Given the description of an element on the screen output the (x, y) to click on. 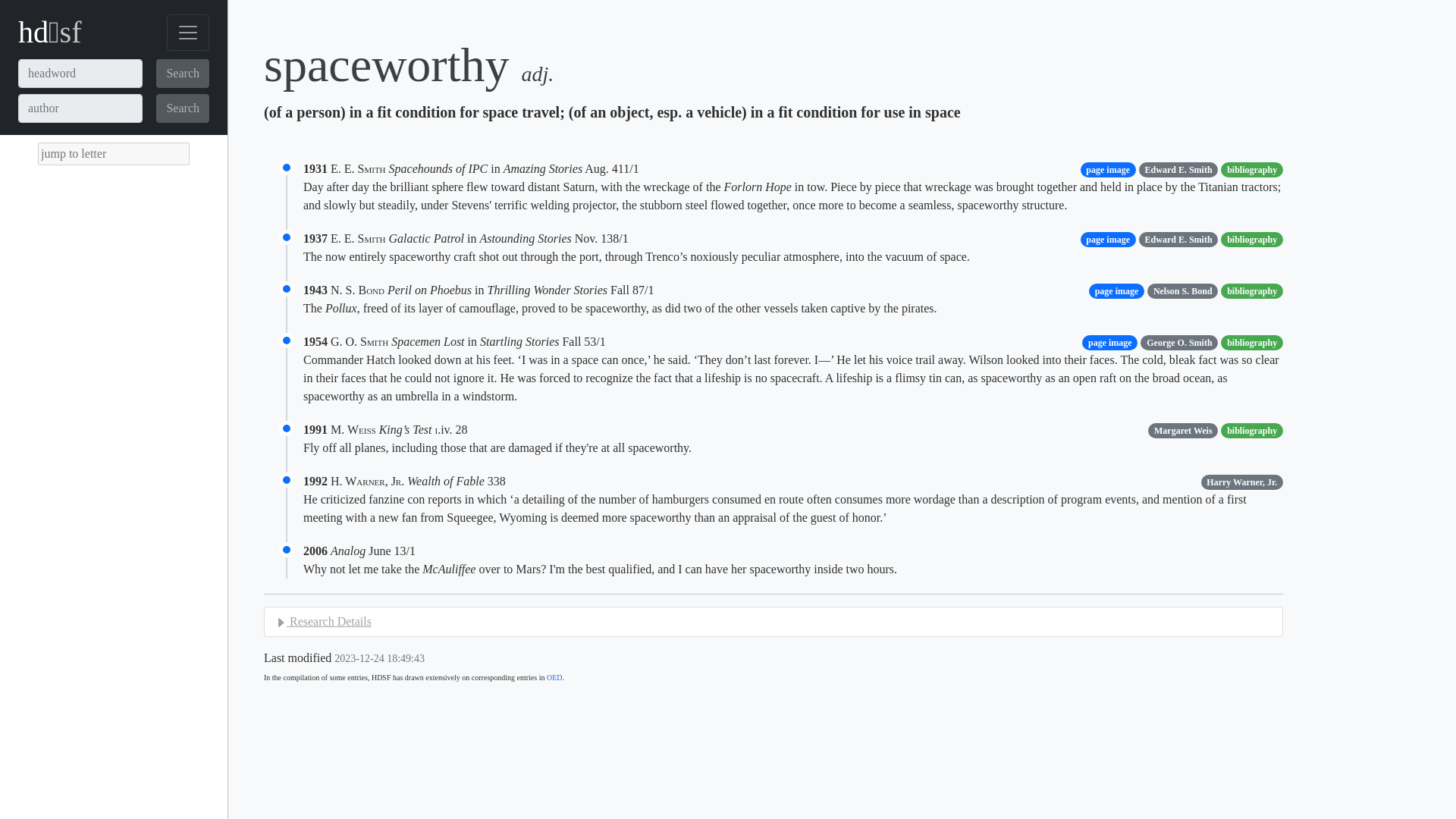
Edward E. Smith (1178, 237)
bibliography (1251, 341)
Nelson S. Bond (1182, 289)
George O. Smith (1178, 341)
page image (1109, 341)
Edward E. Smith (1178, 168)
Search (182, 108)
page image (1116, 289)
bibliography (1251, 168)
Research Details (322, 621)
